Given the description of an element on the screen output the (x, y) to click on. 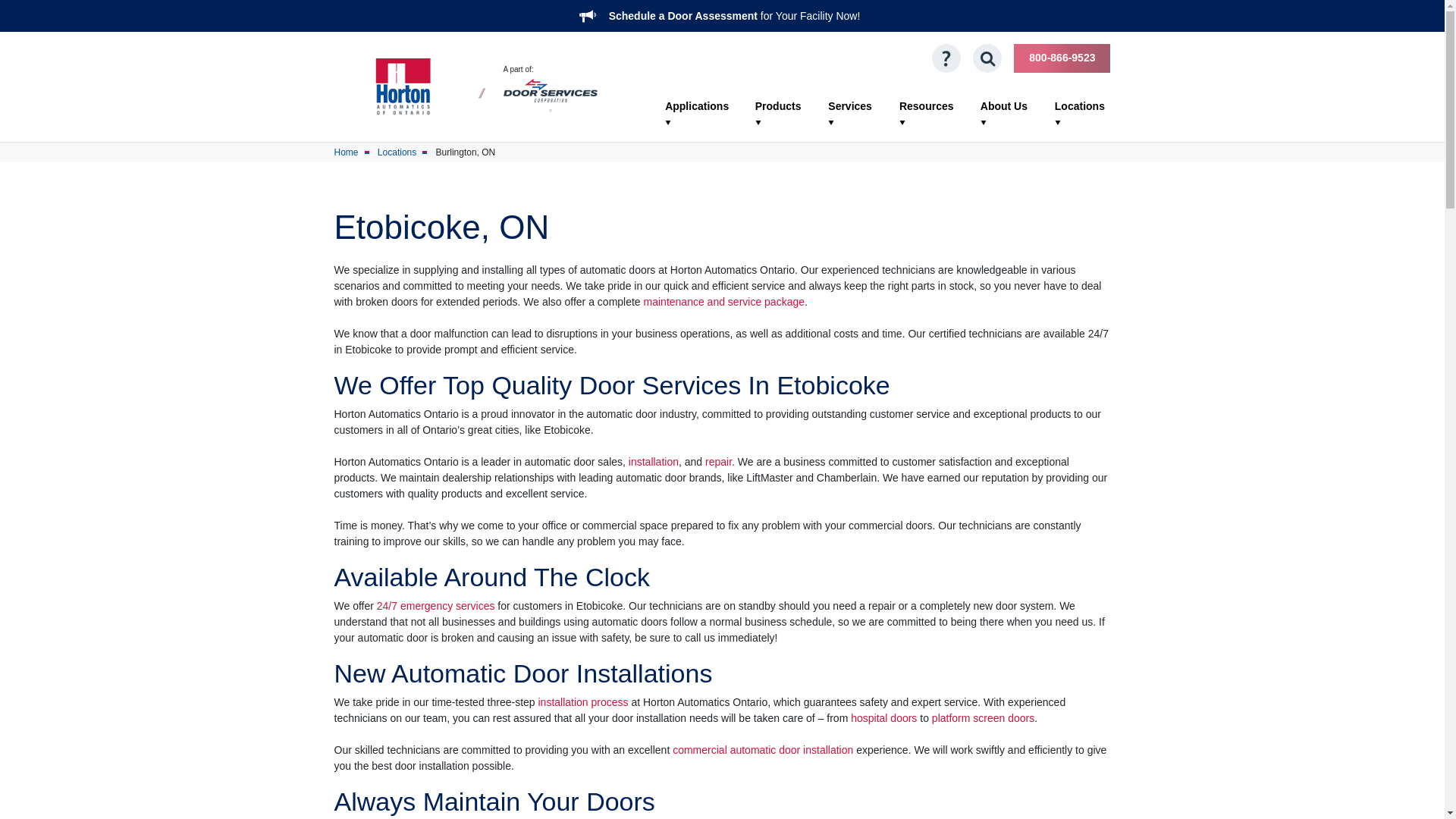
Locations (396, 152)
Resources (926, 113)
About Us (1003, 113)
Locations (1079, 113)
installation (653, 461)
Products (778, 113)
commercial automatic door installation (762, 749)
Schedule a Door Assessment (682, 15)
platform screen doors (982, 717)
installation process (582, 702)
800-866-9523 (1061, 58)
Applications (697, 113)
hospital doors (883, 717)
maintenance and service package (724, 301)
Home (345, 152)
